Given the description of an element on the screen output the (x, y) to click on. 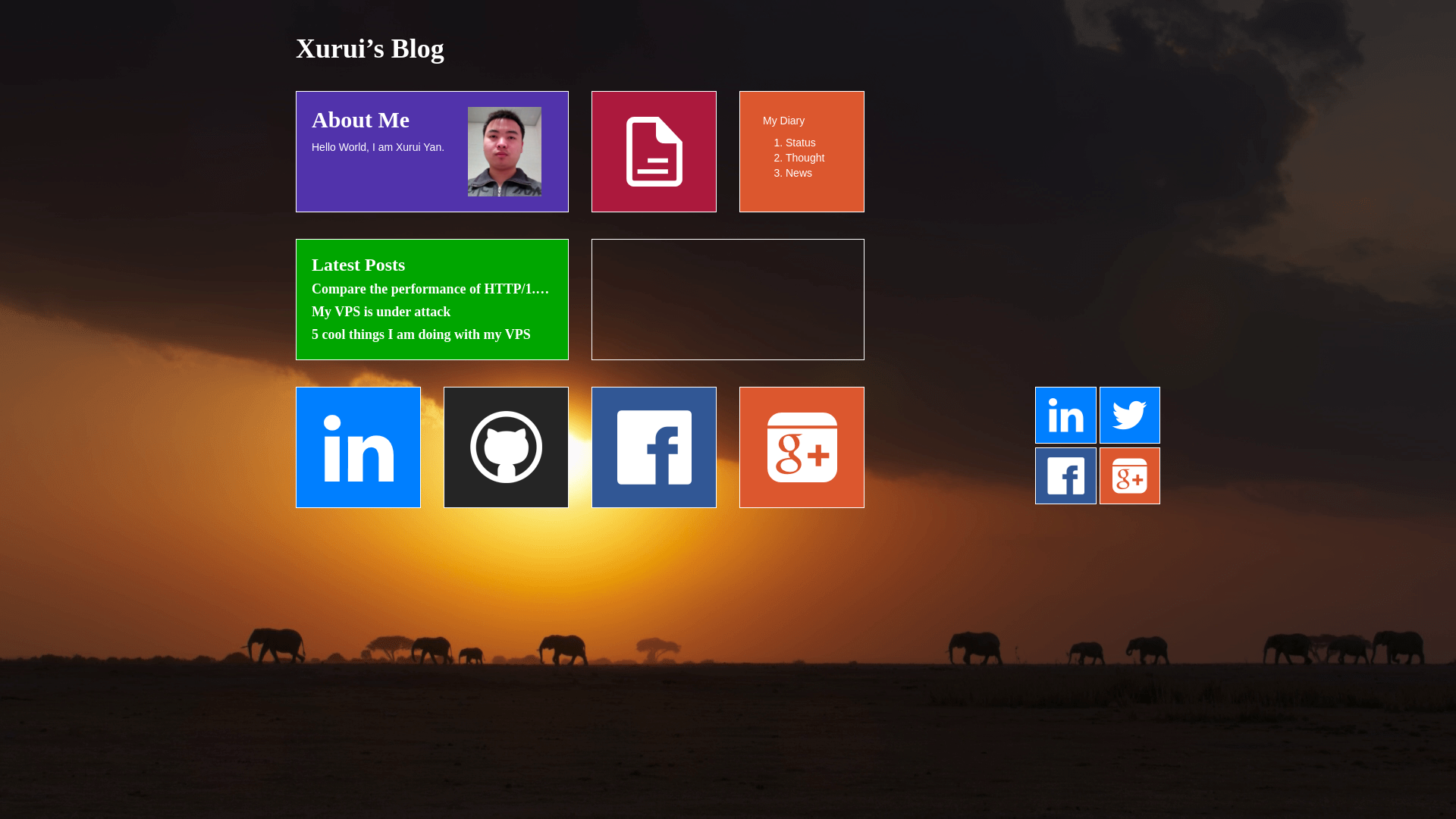
Resume Element type: hover (653, 151)
Compare the performance of HTTP/1.1, HTTP/2 and HTTP/3 Element type: text (431, 289)
Blog Element type: hover (801, 151)
My VPS is under attack Element type: text (431, 312)
5 cool things I am doing with my VPS Element type: text (431, 334)
About Me
Hello World, I am Xurui Yan. Element type: text (431, 231)
My Diary
Status
Thought
News Element type: text (801, 151)
